Given the description of an element on the screen output the (x, y) to click on. 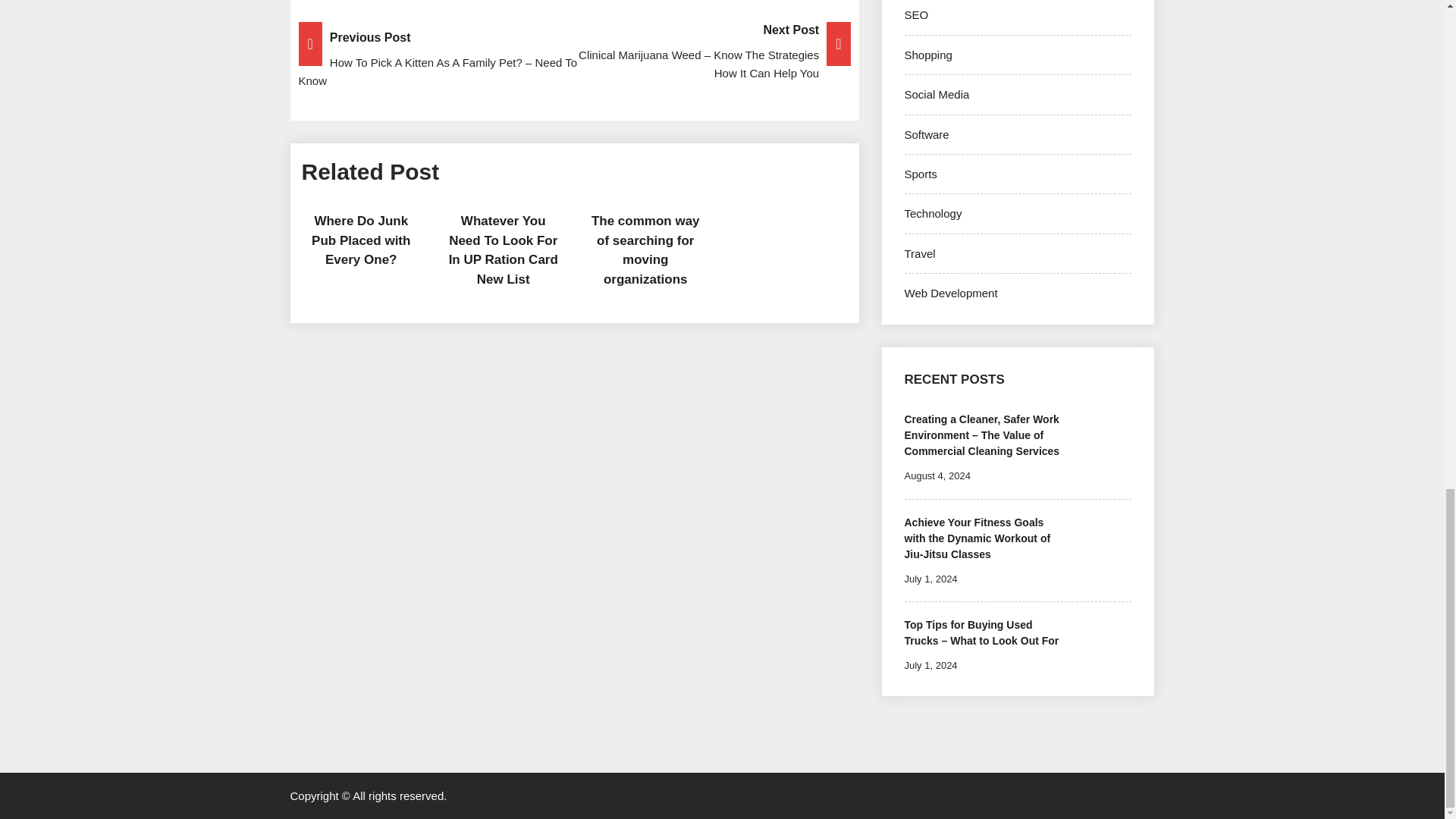
Whatever You Need To Look For In UP Ration Card New List (502, 249)
The common way of searching for moving organizations (645, 249)
Where Do Junk Pub Placed with Every One? (360, 239)
